Given the description of an element on the screen output the (x, y) to click on. 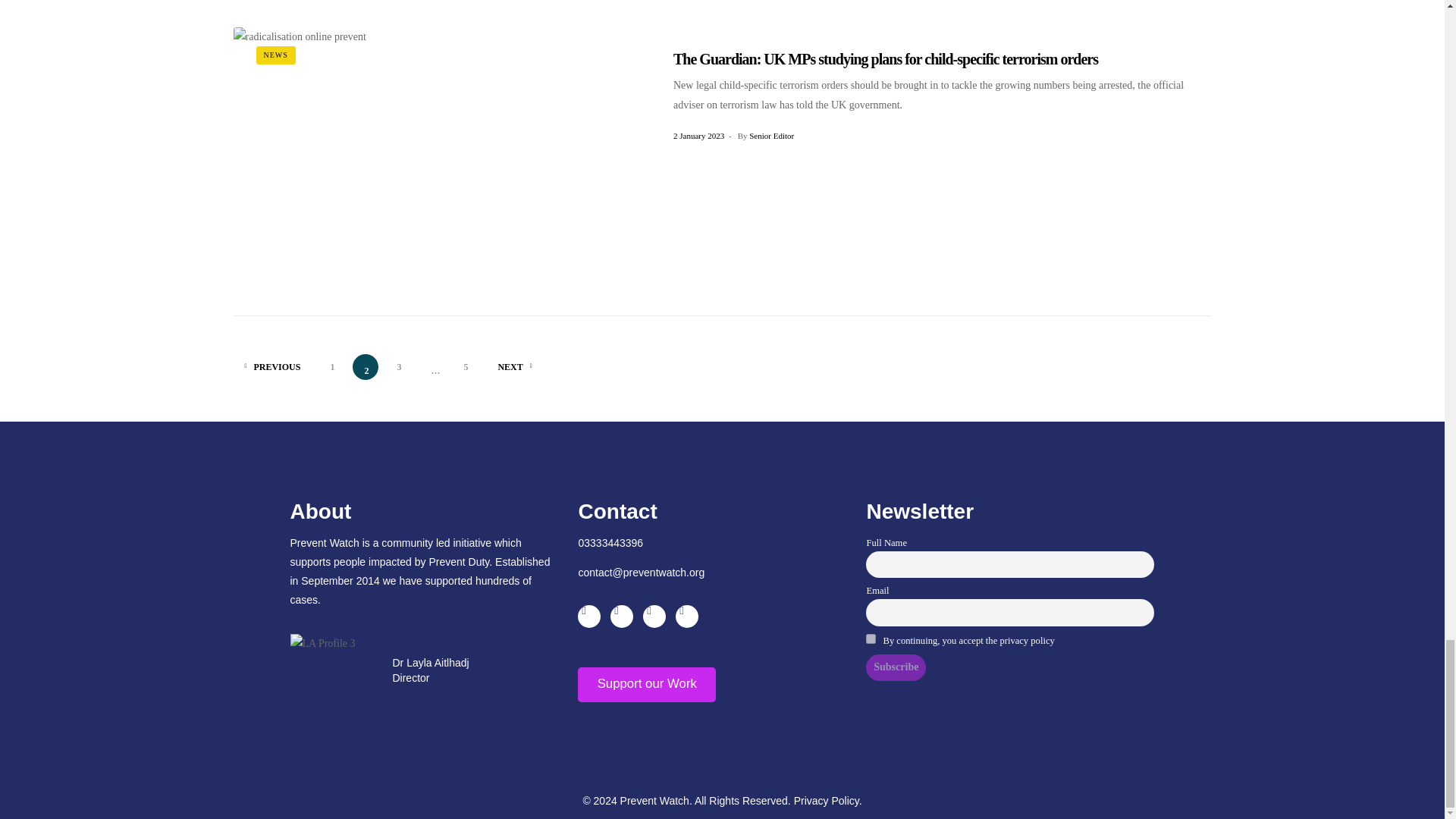
LA Profile 3 (322, 642)
on (871, 638)
Subscribe (896, 667)
